Given the description of an element on the screen output the (x, y) to click on. 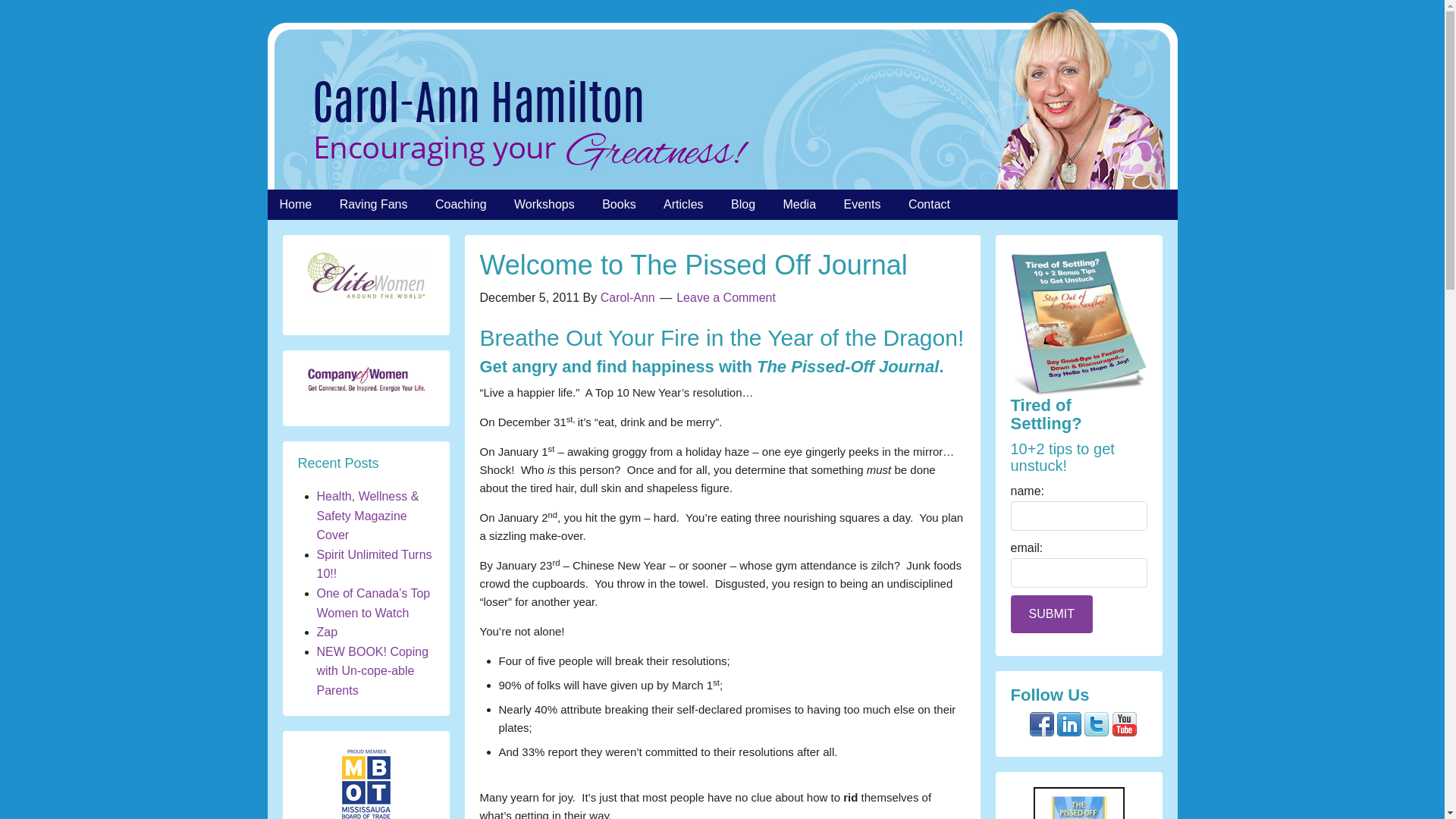
Events (862, 204)
Twitter (1096, 723)
Home (294, 204)
Facebook (1041, 723)
Raving Fans (373, 204)
Submit (1051, 614)
Workshops (544, 204)
Articles (682, 204)
Picture 31 (365, 276)
Youtube (1124, 723)
Coaching (461, 204)
Linkedin (1069, 723)
Pissed Off Journal (1078, 803)
Media (799, 204)
Blog (743, 204)
